Given the description of an element on the screen output the (x, y) to click on. 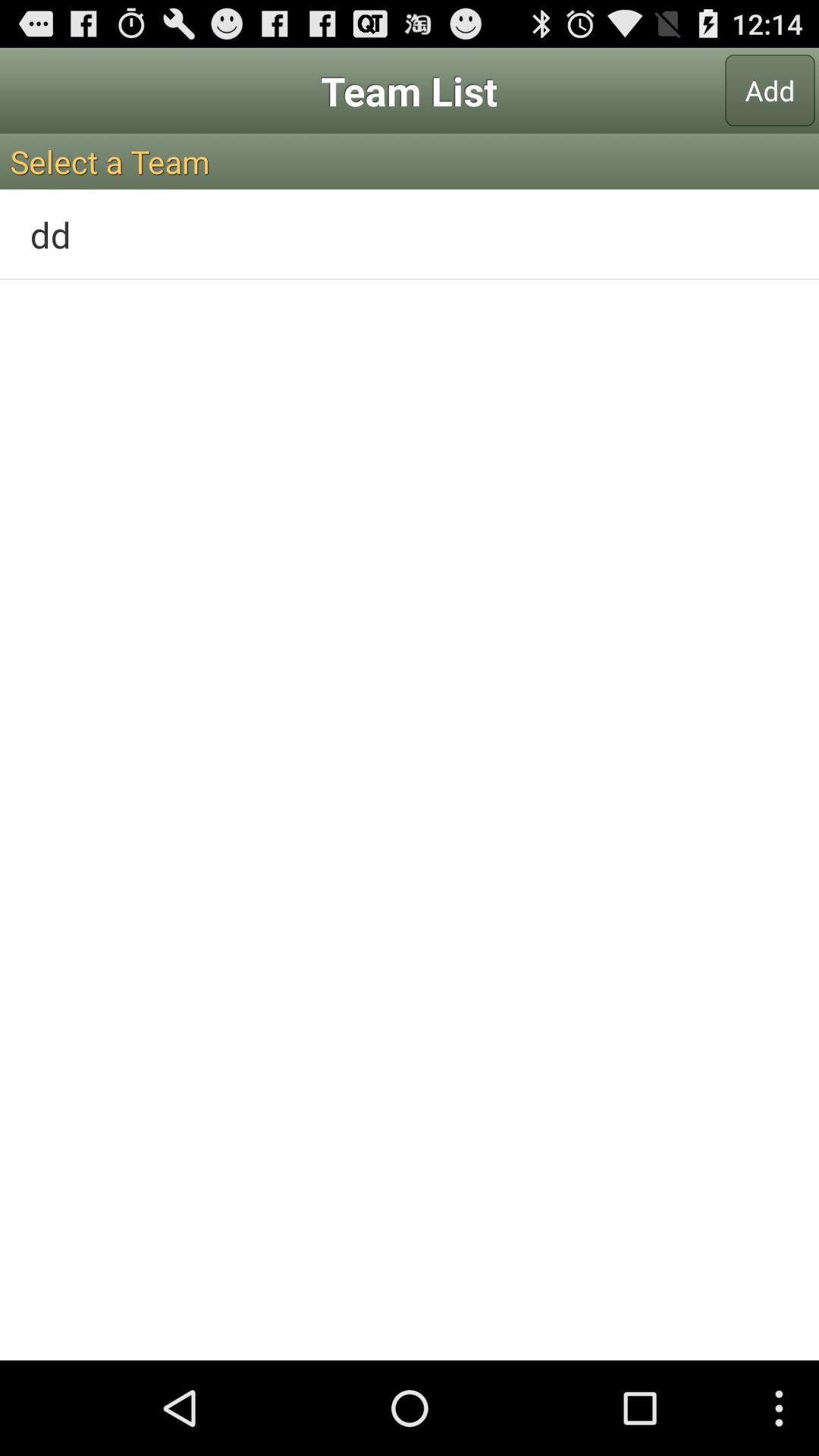
swipe until dd icon (409, 234)
